Given the description of an element on the screen output the (x, y) to click on. 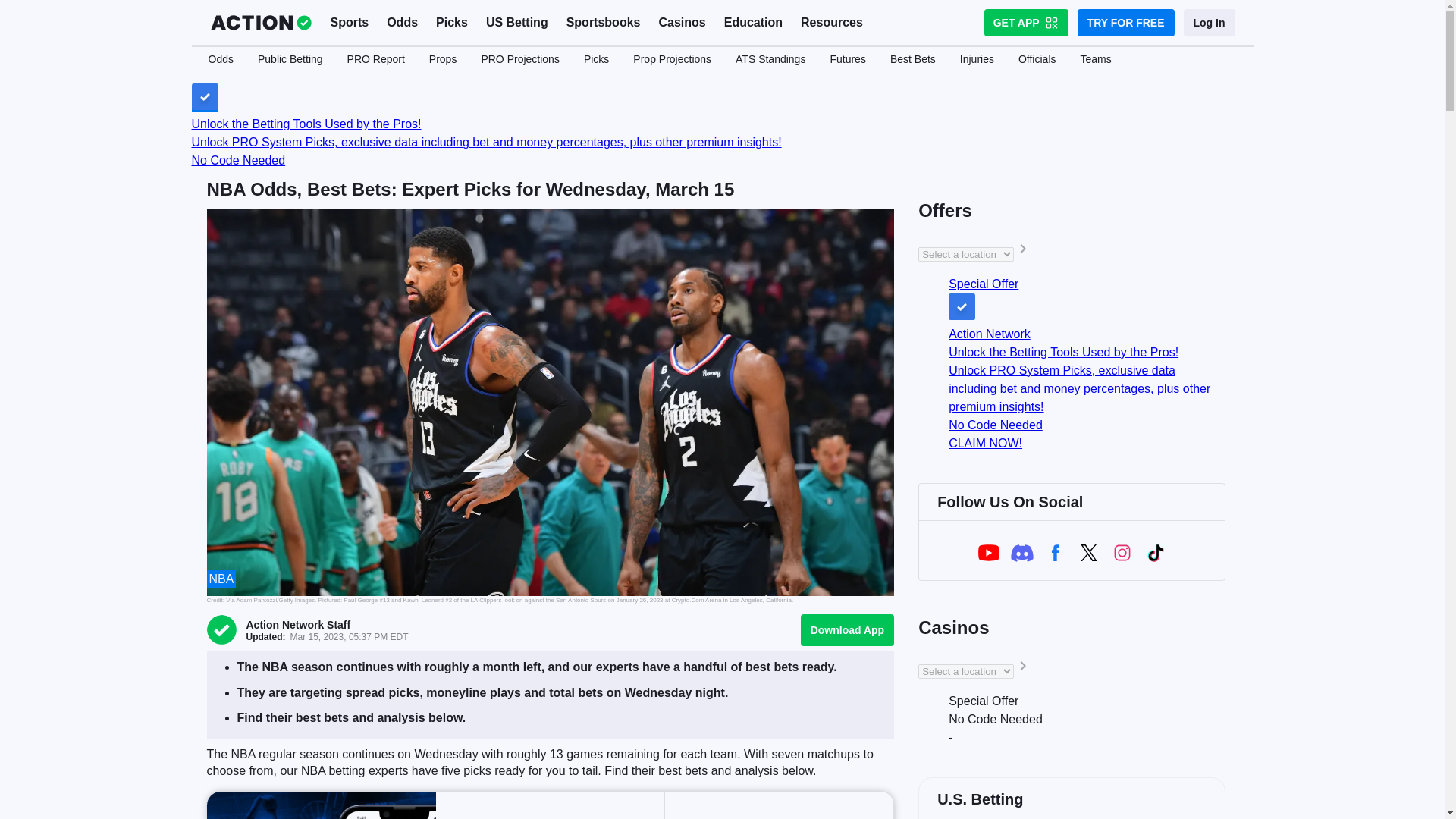
NBA (221, 578)
Injuries (976, 59)
Prop Projections (672, 59)
Sportsbooks (603, 23)
Best Bets (912, 59)
Picks (596, 59)
Odds (401, 23)
Officials (1037, 59)
PRO Projections (519, 59)
Picks (451, 23)
Casinos (681, 23)
PRO Report (375, 59)
Odds (219, 59)
ATS Standings (769, 59)
GET APP (1026, 22)
